Given the description of an element on the screen output the (x, y) to click on. 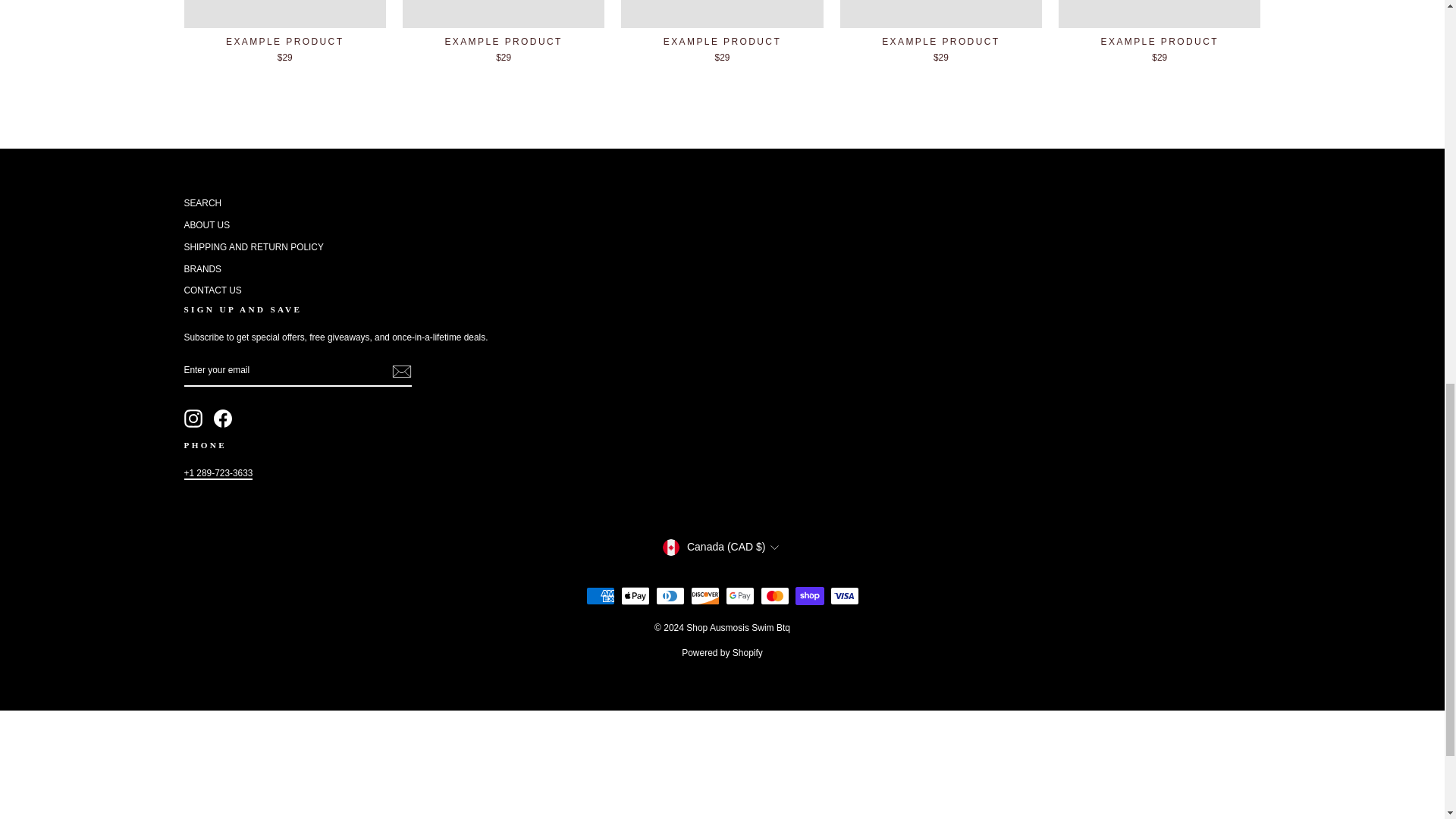
Diners Club (669, 596)
Apple Pay (634, 596)
Discover (704, 596)
Shop Ausmosis Swim Btq on Facebook (222, 418)
icon-email (400, 371)
Shop Ausmosis Swim Btq on Instagram (192, 418)
instagram (192, 418)
American Express (599, 596)
